Given the description of an element on the screen output the (x, y) to click on. 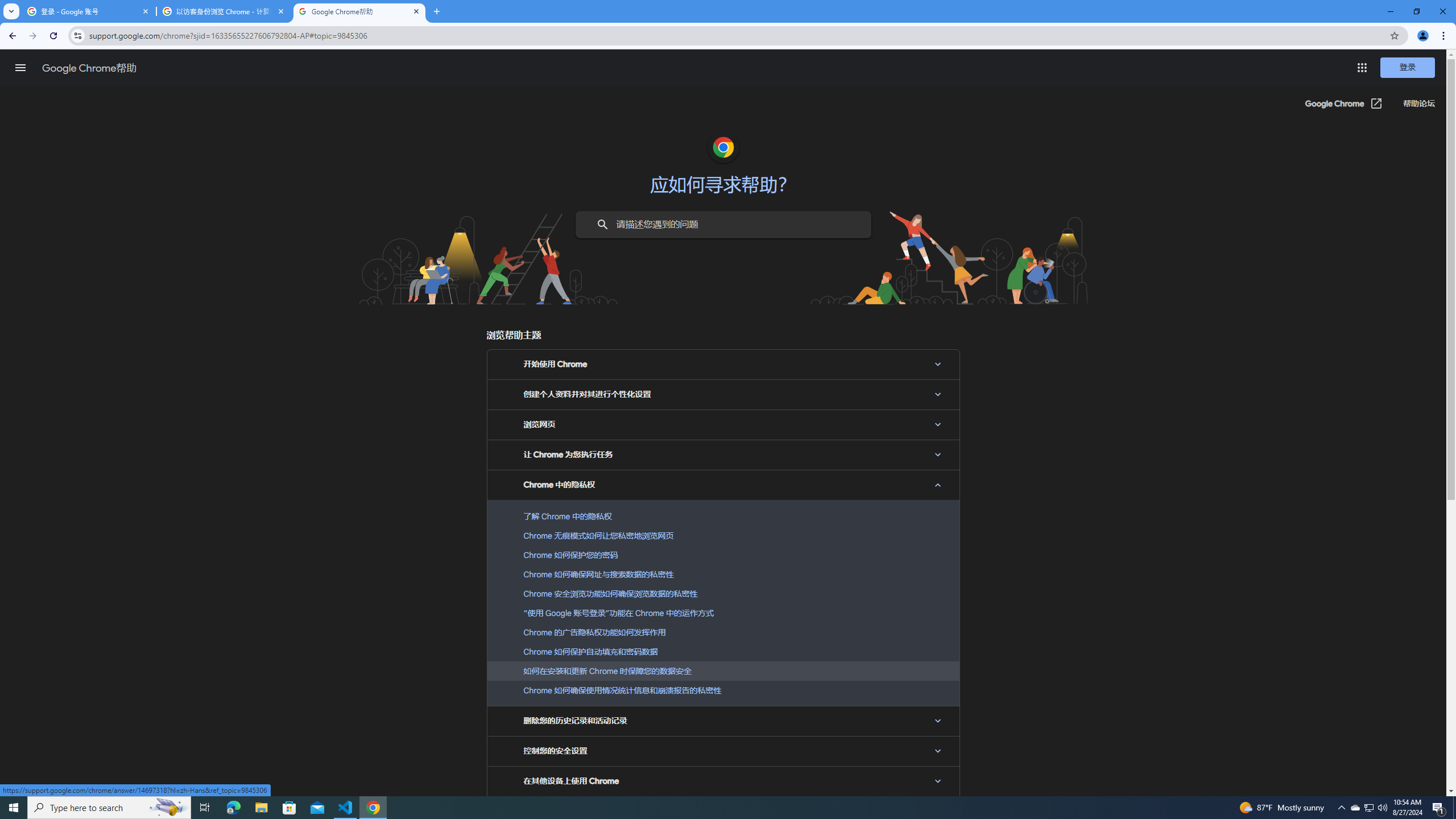
Forward (32, 35)
Chrome (1445, 35)
